Given the description of an element on the screen output the (x, y) to click on. 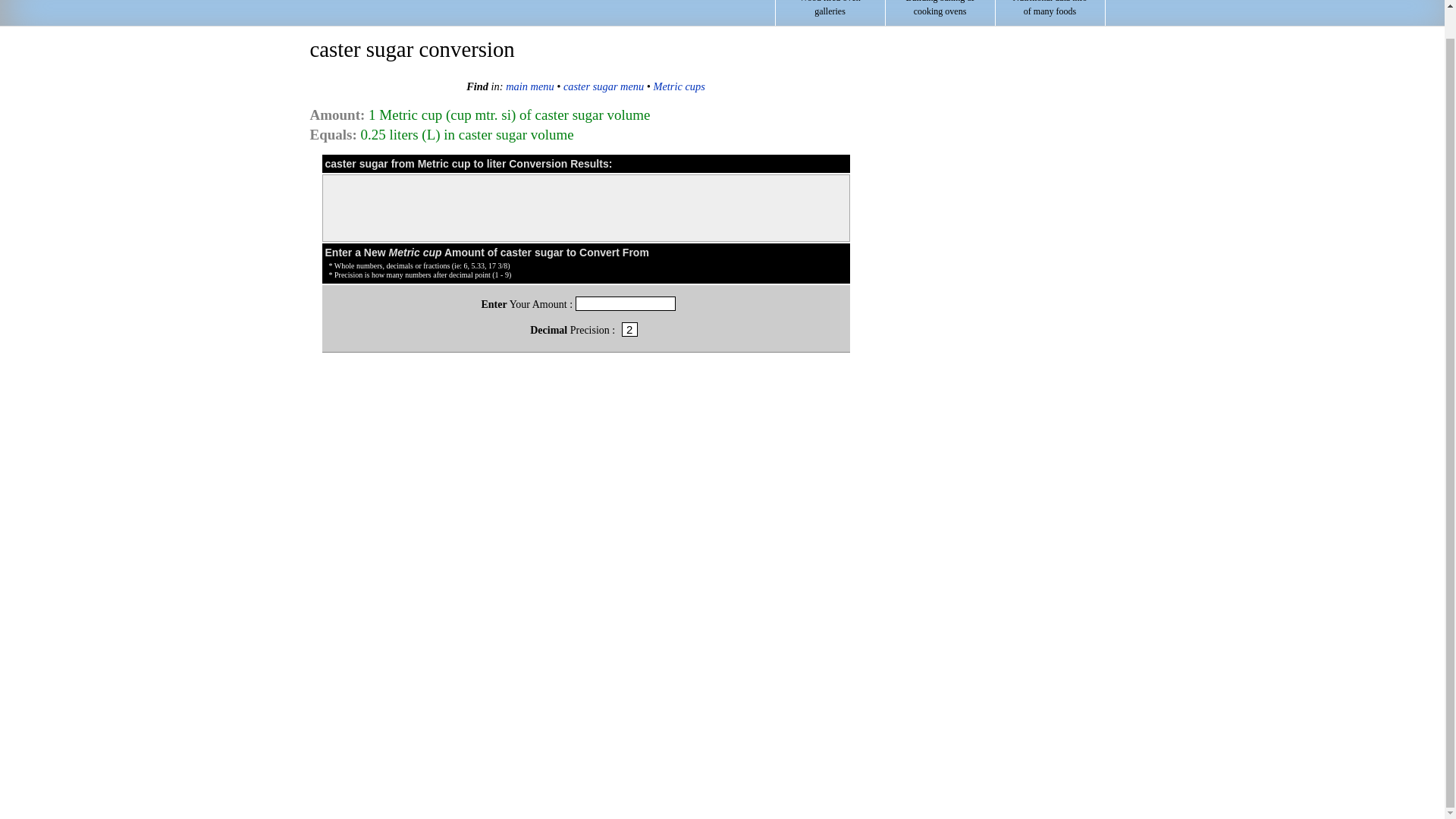
Full caster sugar menu. (603, 86)
main menu (529, 86)
Sugar products section multimenu. (529, 86)
2 (629, 329)
Metric cups (678, 86)
From Metric cups culinary arts tools. (1049, 12)
Home (829, 12)
Traditional oven (678, 86)
caster sugar menu (411, 12)
